Given the description of an element on the screen output the (x, y) to click on. 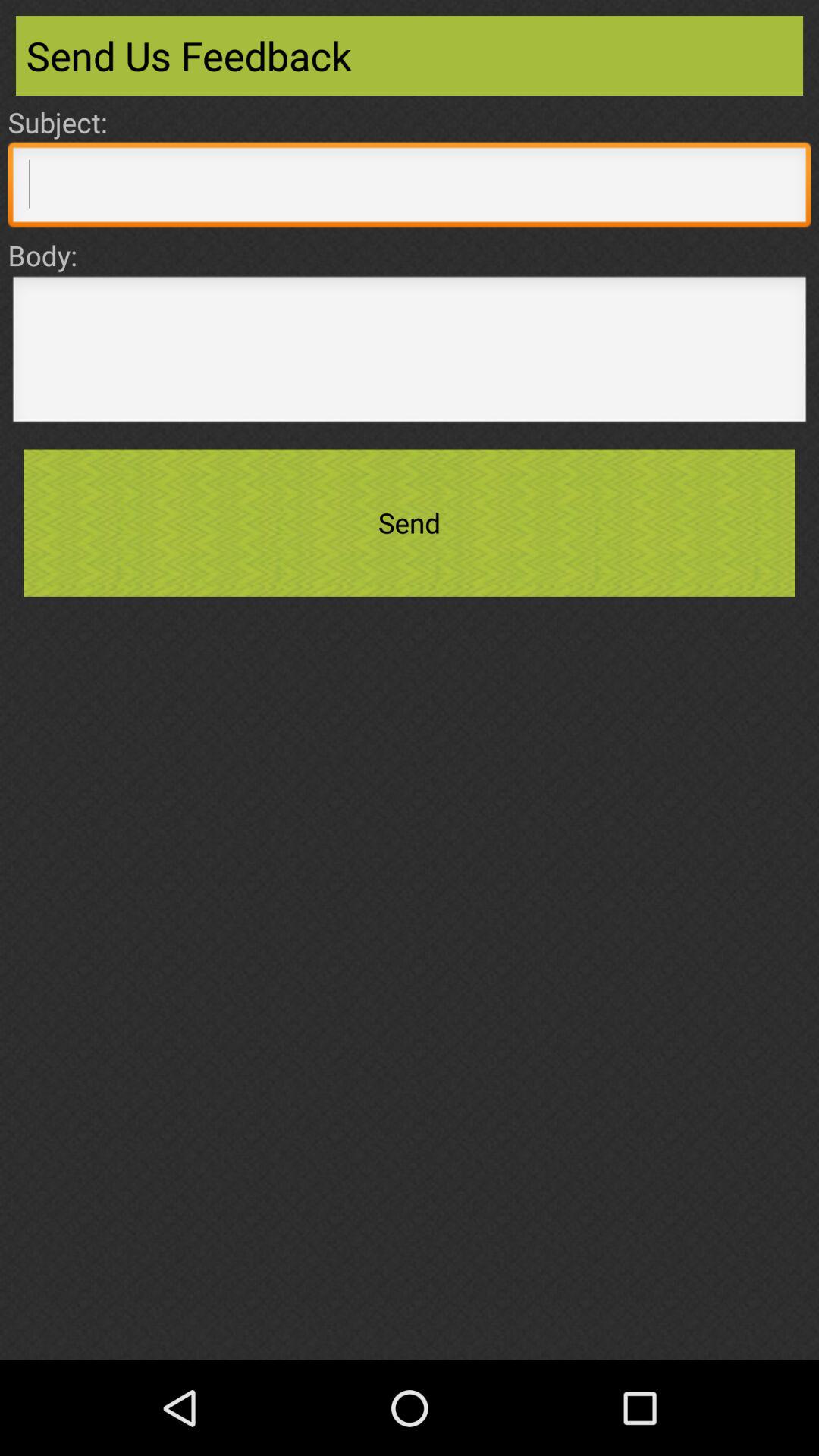
choose the icon below send item (409, 1310)
